Given the description of an element on the screen output the (x, y) to click on. 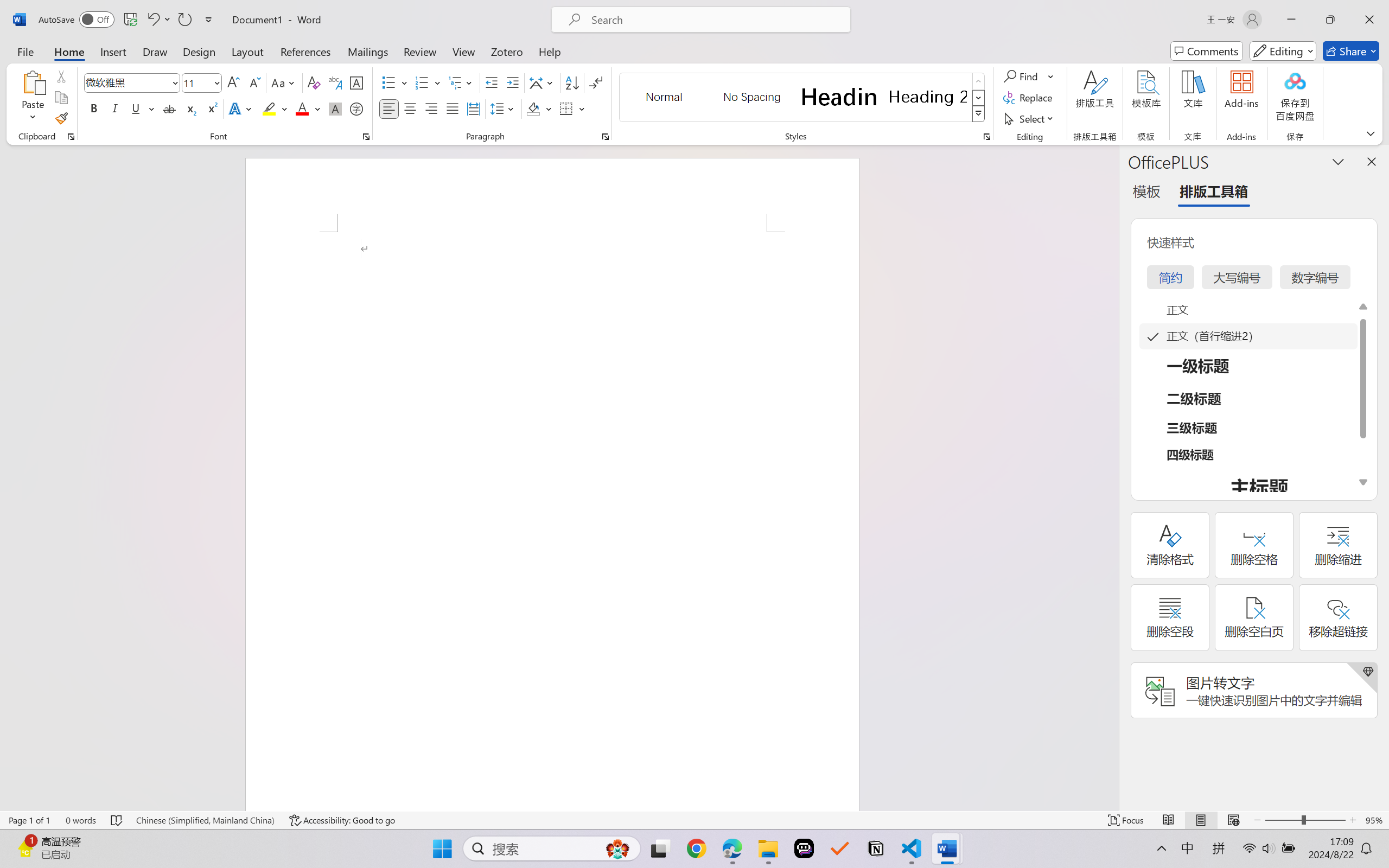
Class: NetUIScrollBar (1111, 477)
Language Chinese (Simplified, Mainland China) (205, 819)
